Given the description of an element on the screen output the (x, y) to click on. 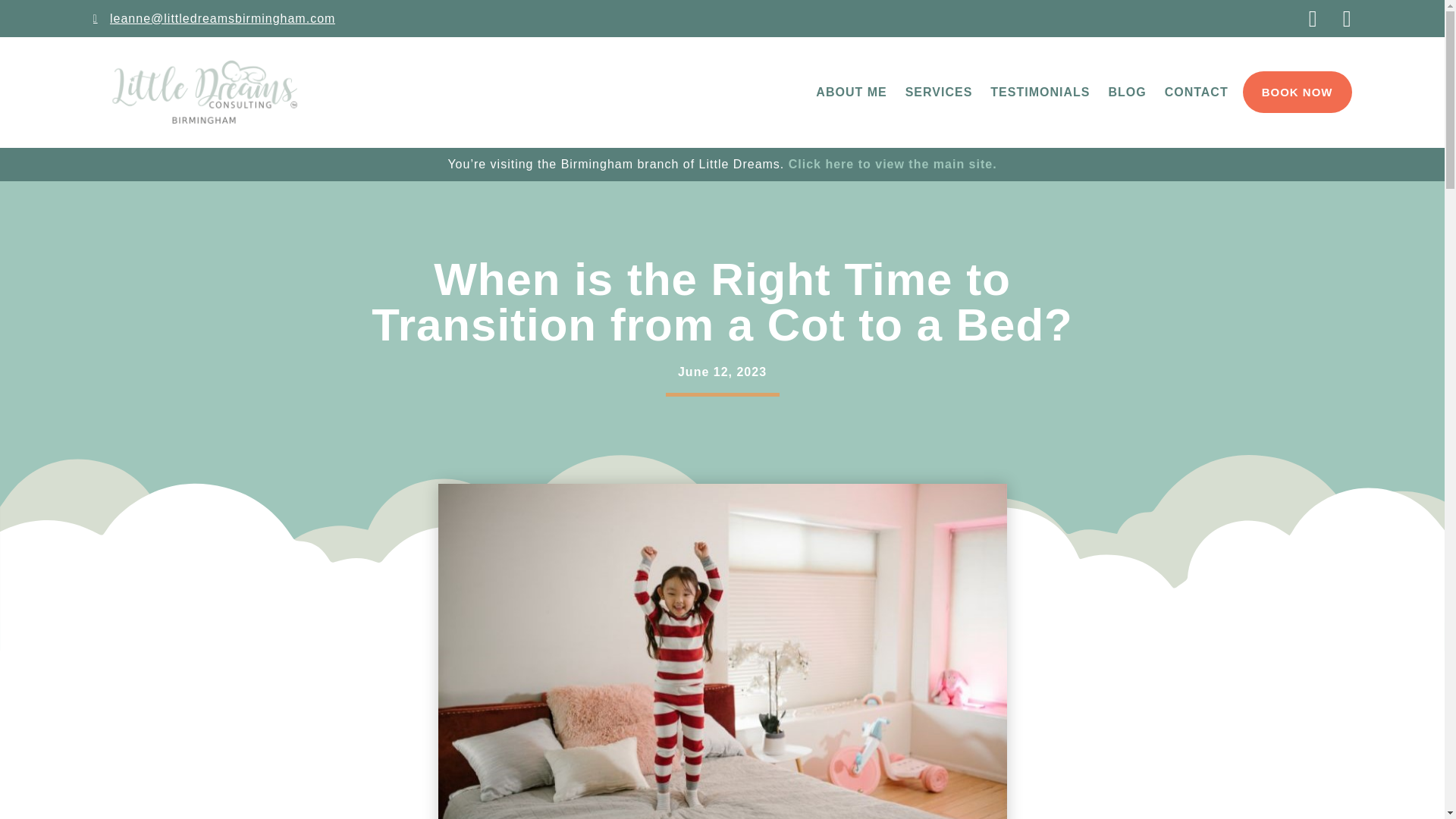
CONTACT (1196, 92)
BOOK NOW (1297, 92)
ABOUT ME (850, 92)
SERVICES (938, 92)
TESTIMONIALS (1040, 92)
BLOG (1126, 92)
